Given the description of an element on the screen output the (x, y) to click on. 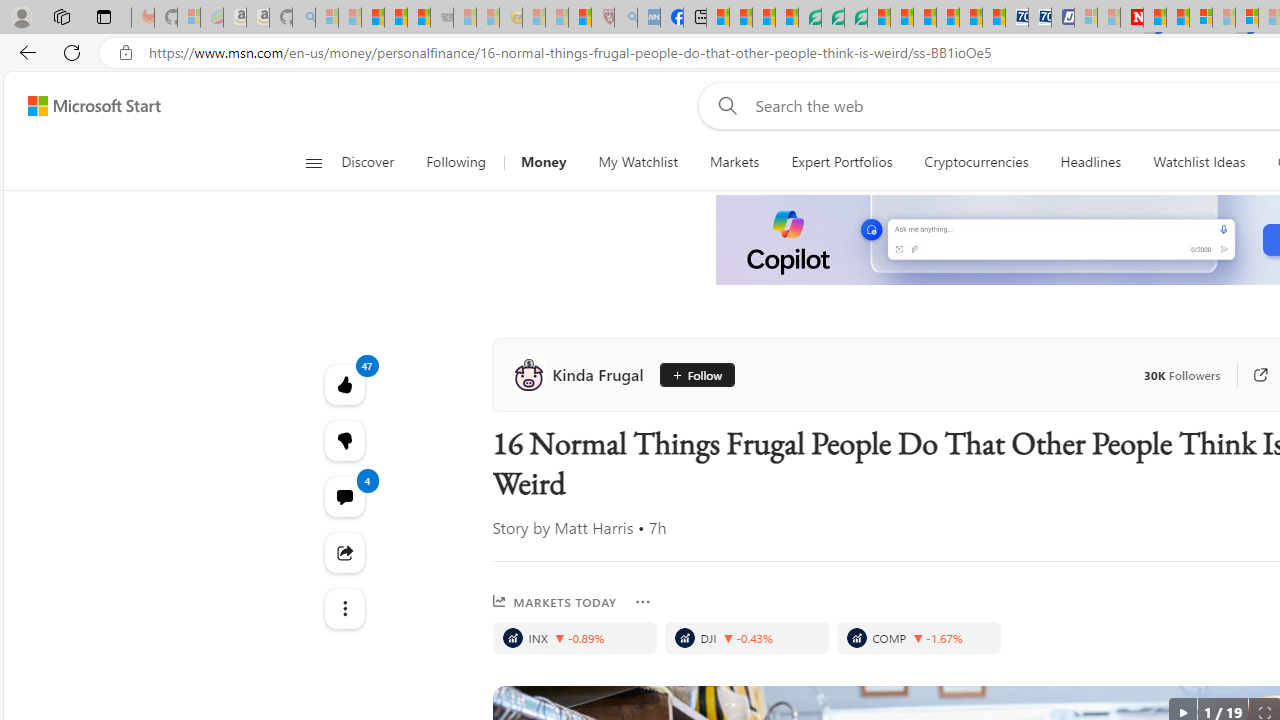
MSNBC - MSN (717, 17)
Watchlist Ideas (1199, 162)
Microsoft Start (94, 105)
Kinda Frugal (581, 374)
See more (343, 608)
Microsoft-Report a Concern to Bing - Sleeping (188, 17)
Trusted Community Engagement and Contributions | Guidelines (1155, 17)
Headlines (1090, 162)
COMP, NASDAQ. Price is 17,619.35. Decreased by -1.67% (917, 637)
